Given the description of an element on the screen output the (x, y) to click on. 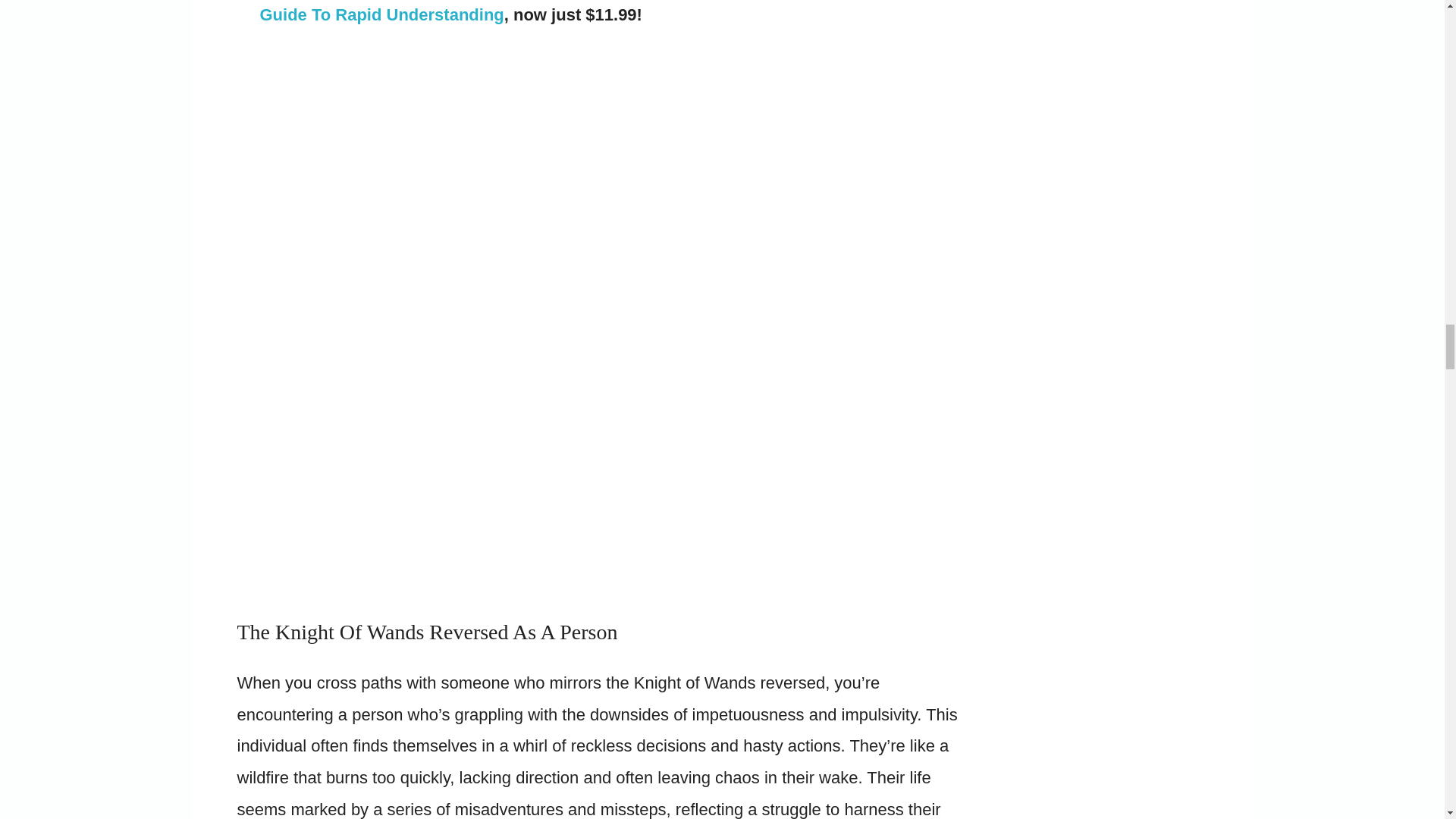
Tarot Made Easy: A Beginners Guide To Rapid Understanding (588, 12)
